Given the description of an element on the screen output the (x, y) to click on. 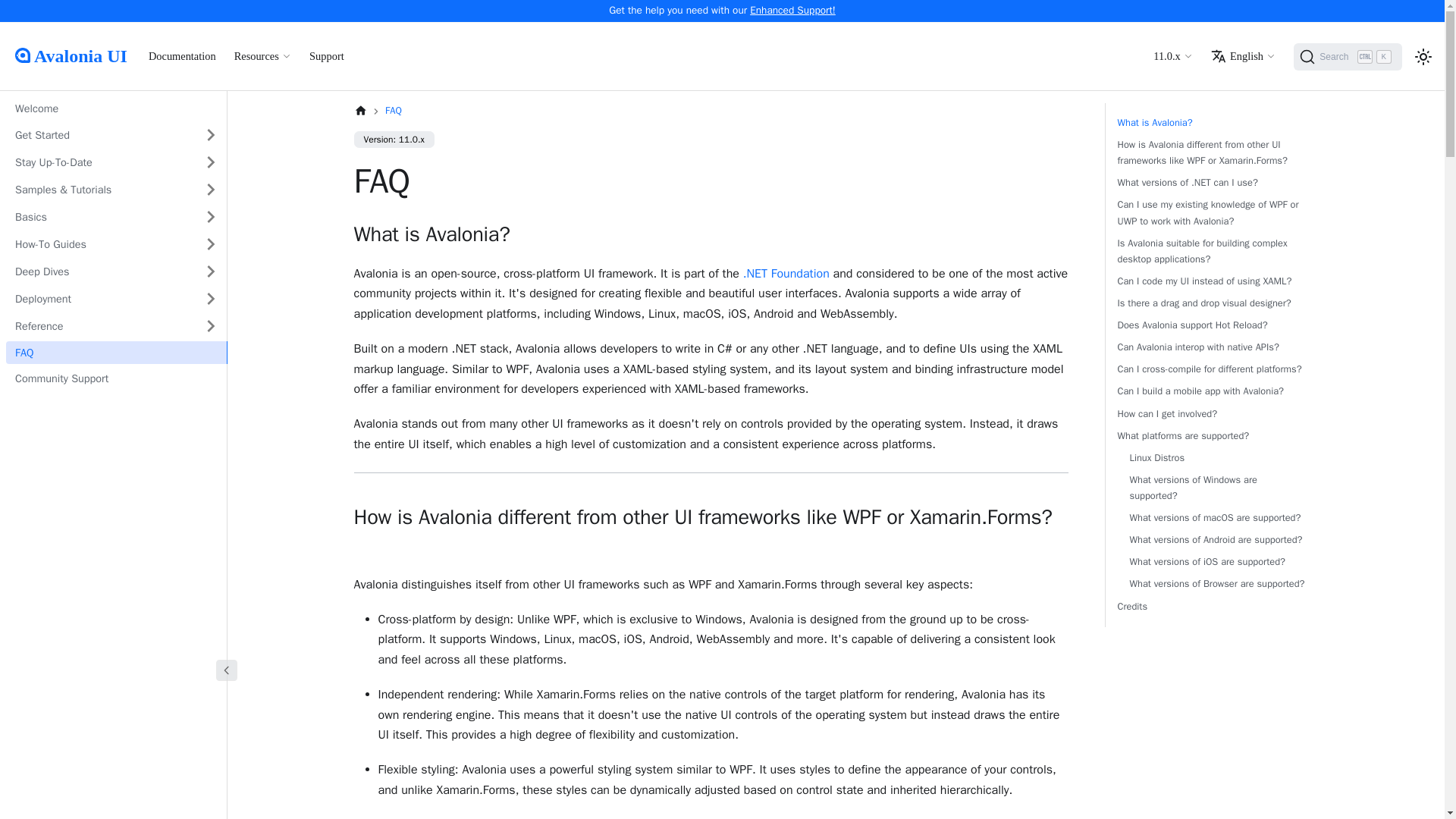
Support (326, 56)
Get Started (1348, 55)
Deployment (99, 134)
Basics (99, 298)
Reference (99, 216)
Enhanced Support! (99, 325)
Stay Up-To-Date (792, 10)
Deep Dives (99, 161)
How-To Guides (99, 271)
Documentation (99, 243)
Resources (182, 56)
English (262, 56)
11.0.x (1243, 56)
Welcome (1172, 56)
